Given the description of an element on the screen output the (x, y) to click on. 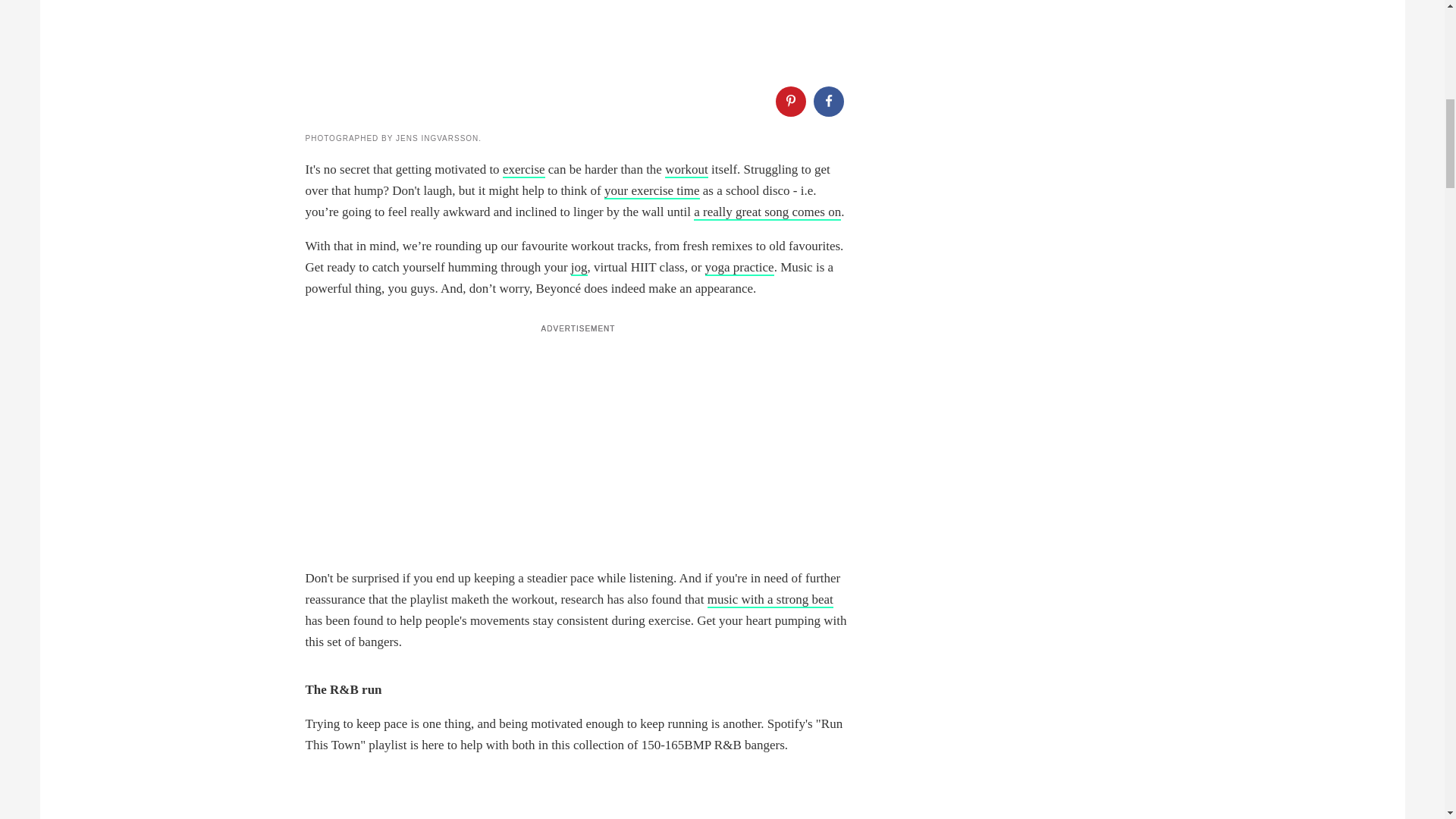
usic with a strong beat (774, 600)
yoga practice (739, 268)
a really great song comes on (767, 212)
exercise (523, 170)
workout (686, 170)
Share on Pinterest (789, 101)
jog (579, 268)
your exercise time (652, 191)
